Given the description of an element on the screen output the (x, y) to click on. 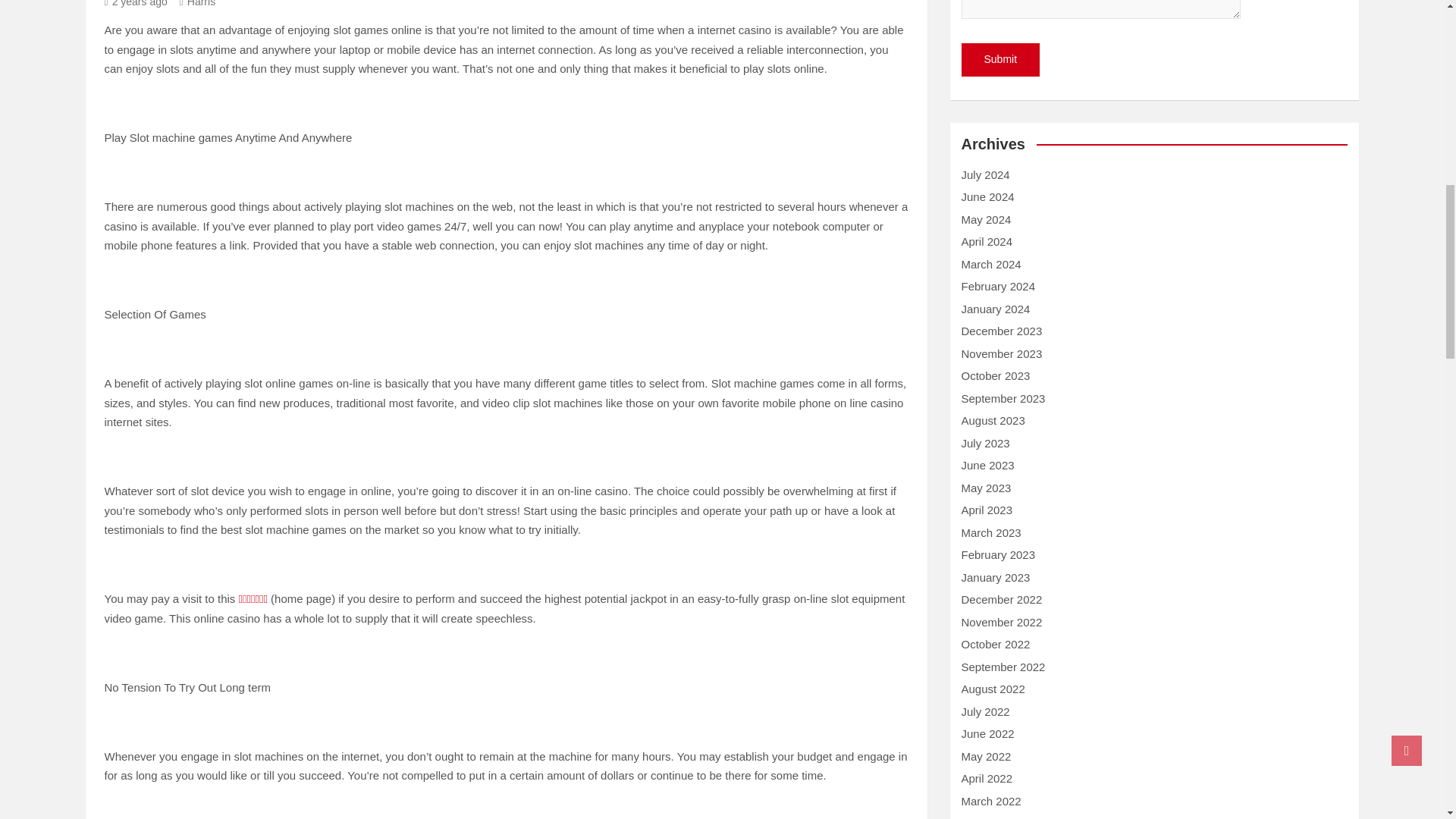
December 2023 (1001, 330)
2 years ago (135, 3)
March 2024 (991, 264)
May 2024 (985, 219)
Harris (197, 3)
Submit (1000, 59)
July 2024 (985, 174)
January 2024 (995, 308)
April 2024 (986, 241)
February 2024 (997, 286)
Submit (1000, 59)
June 2024 (987, 196)
